Given the description of an element on the screen output the (x, y) to click on. 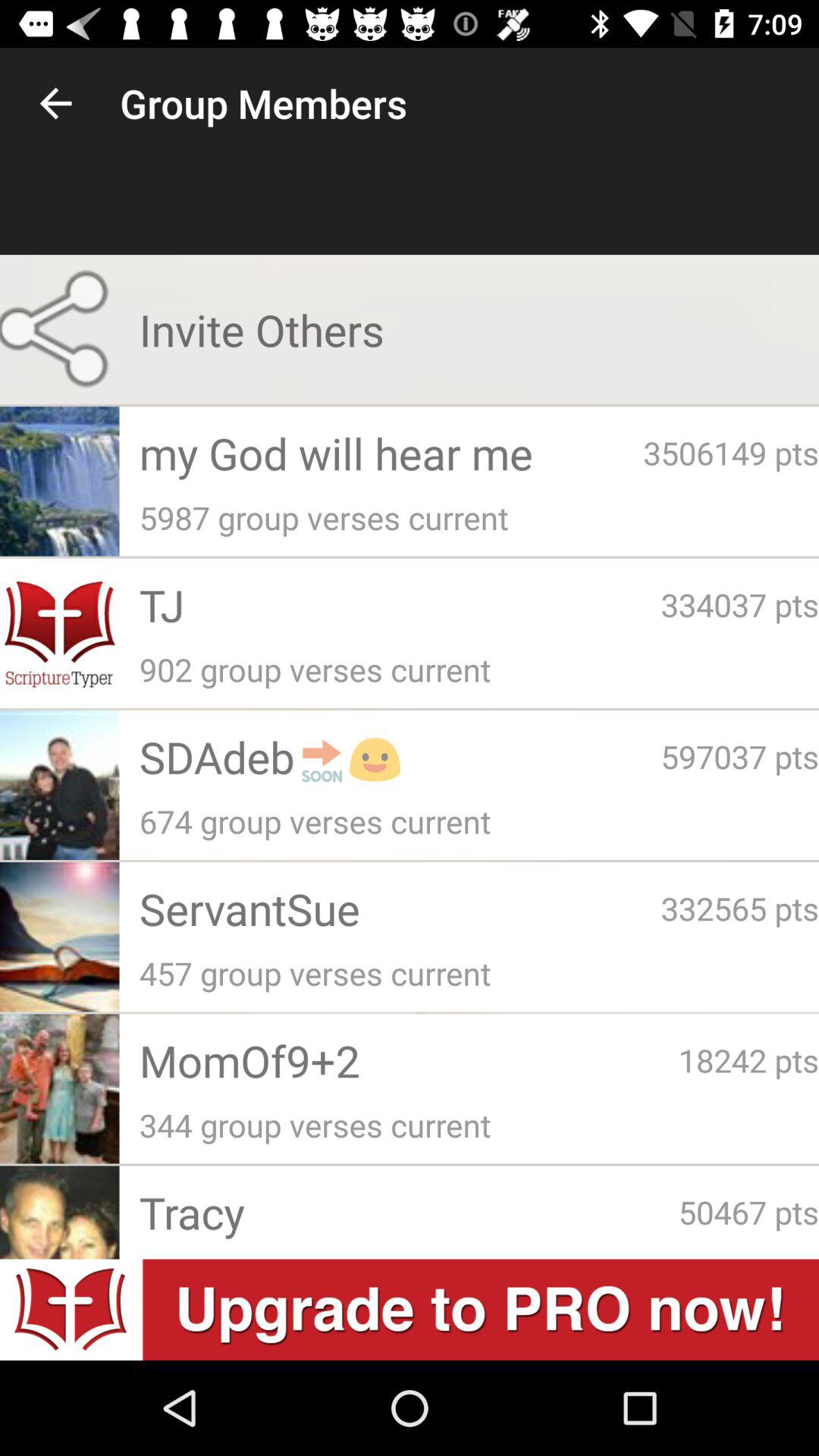
choose item to the left of the 18242 pts (408, 1060)
